Given the description of an element on the screen output the (x, y) to click on. 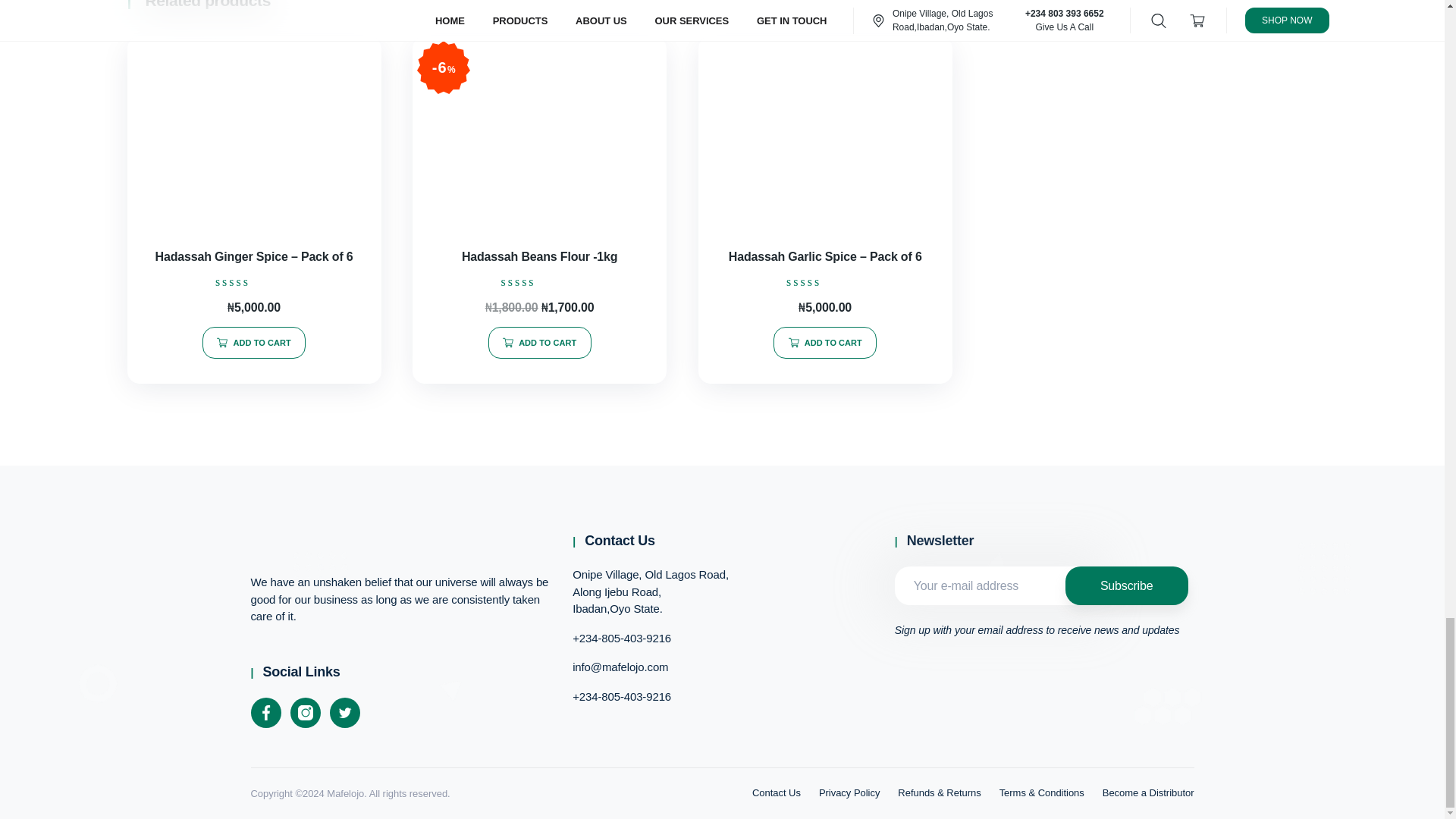
ADD TO CART (539, 342)
ADD TO CART (253, 342)
ADD TO CART (824, 342)
Subscribe (1126, 585)
Subscribe (1126, 585)
